Given the description of an element on the screen output the (x, y) to click on. 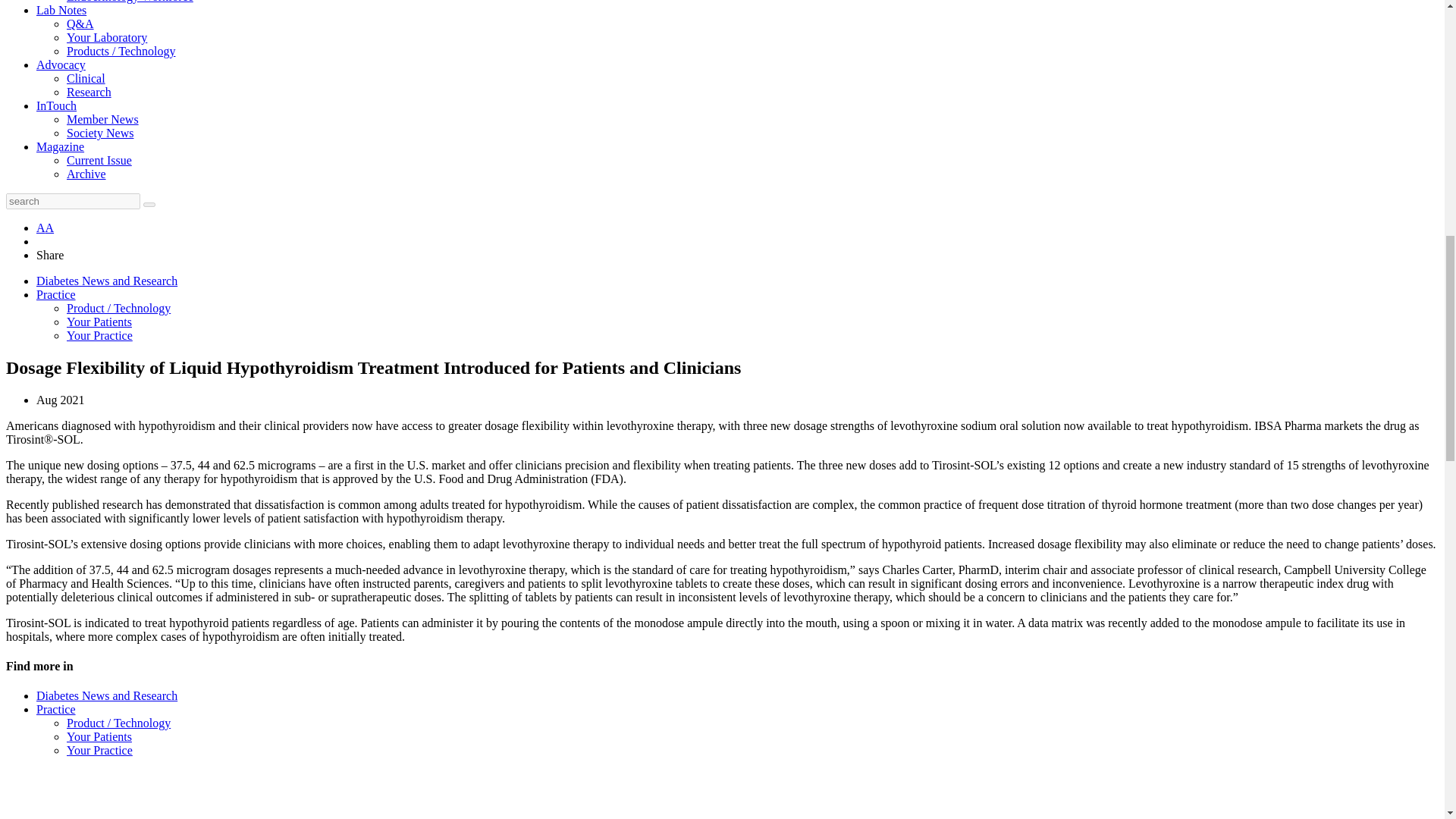
Your Laboratory (106, 37)
InTouch (56, 105)
Advocacy (60, 64)
Clinical (85, 78)
Research (89, 91)
Lab Notes (60, 10)
Endocrinology Workforce (129, 1)
